Given the description of an element on the screen output the (x, y) to click on. 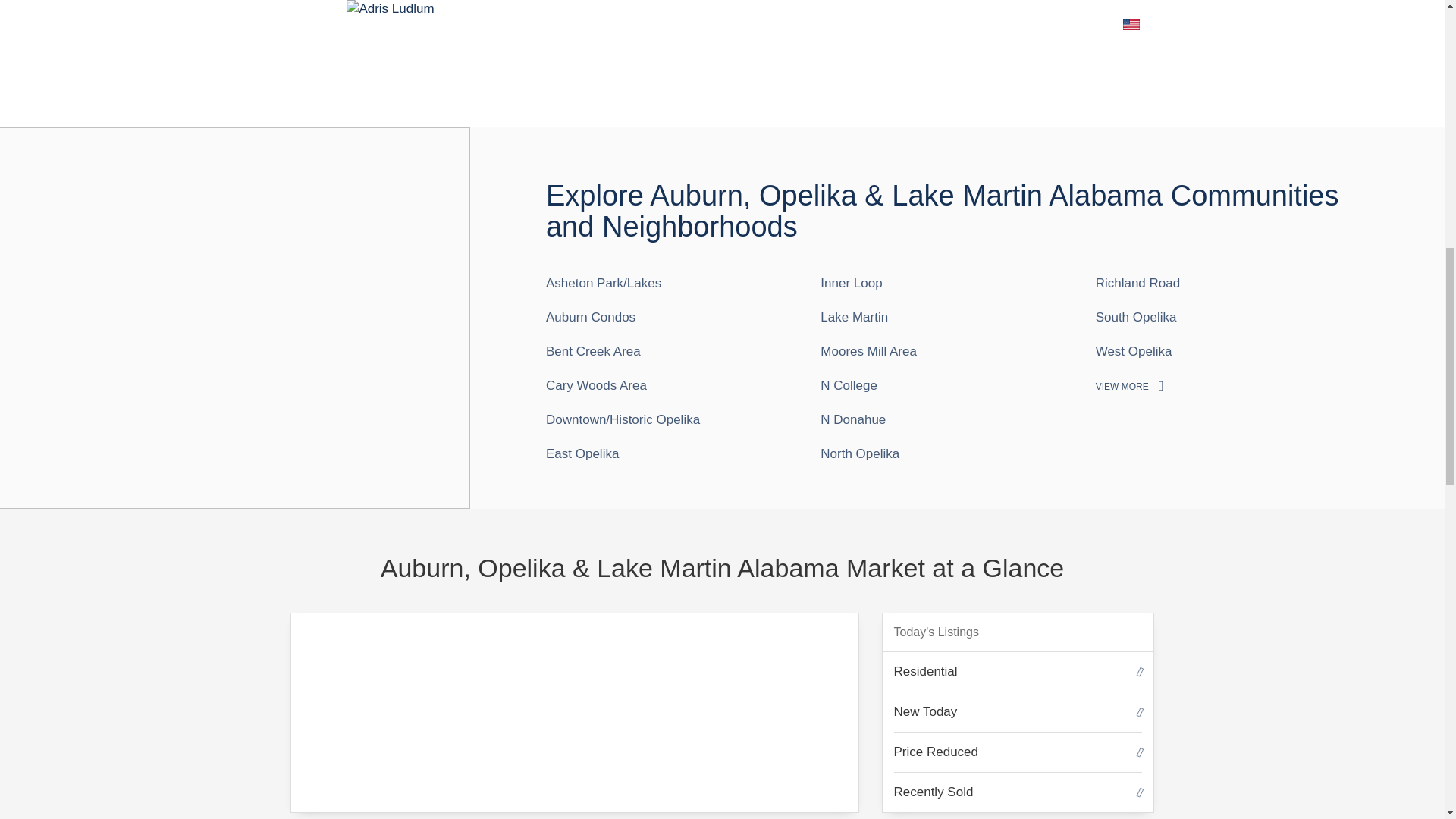
View Cary Woods Area (596, 385)
View Inner Loop (851, 283)
View Auburn Condos (590, 317)
View Bent Creek Area (593, 350)
View East Opelika (582, 453)
